Given the description of an element on the screen output the (x, y) to click on. 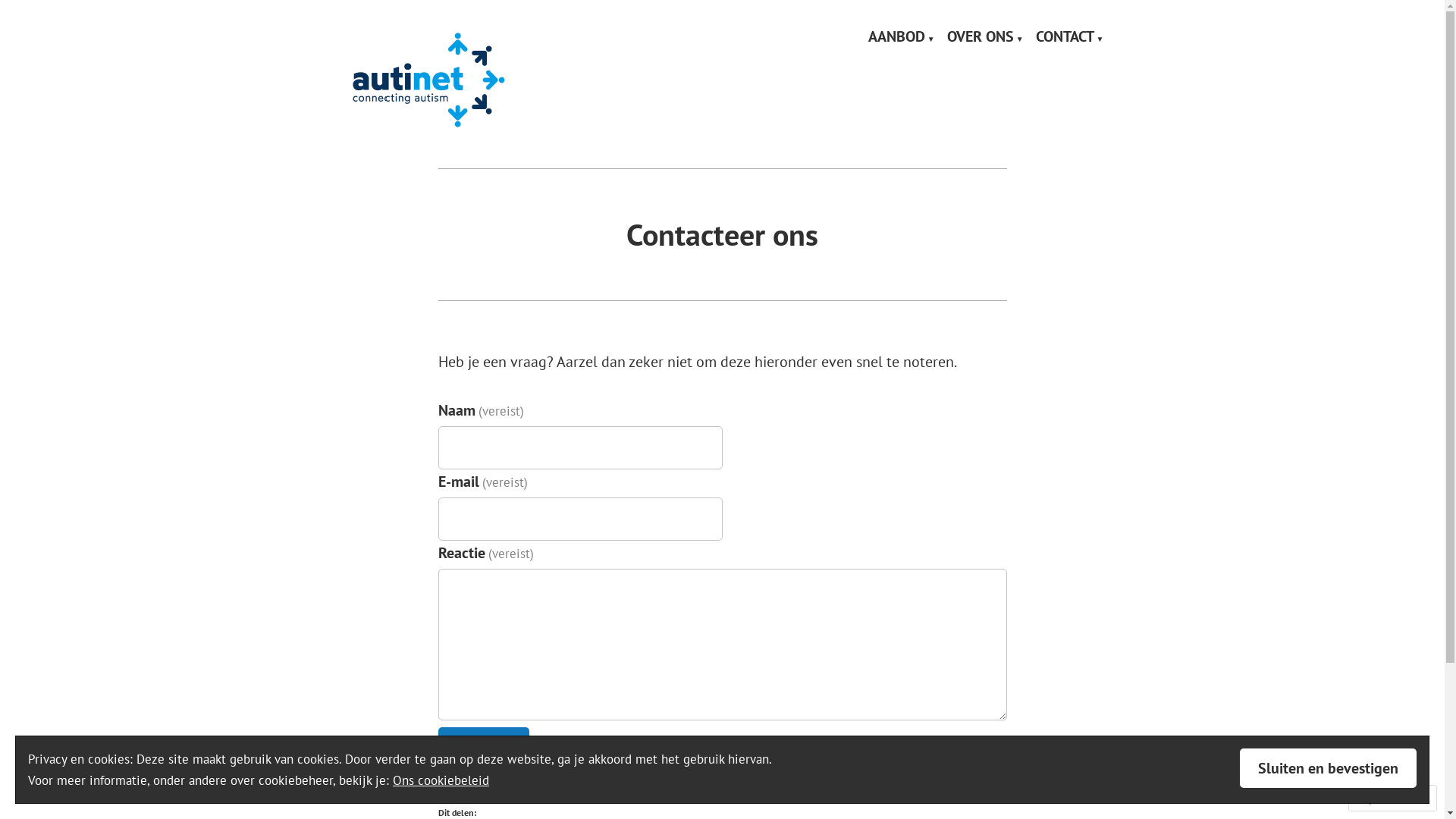
Ons cookiebeleid Element type: text (440, 779)
Sluiten en bevestigen Element type: text (1327, 767)
AUTINET Element type: text (391, 129)
Volg Element type: text (1377, 797)
OVER ONS Element type: text (985, 36)
CONTACT Element type: text (1069, 36)
AANBOD Element type: text (901, 36)
Verstuur Element type: text (483, 746)
